Given the description of an element on the screen output the (x, y) to click on. 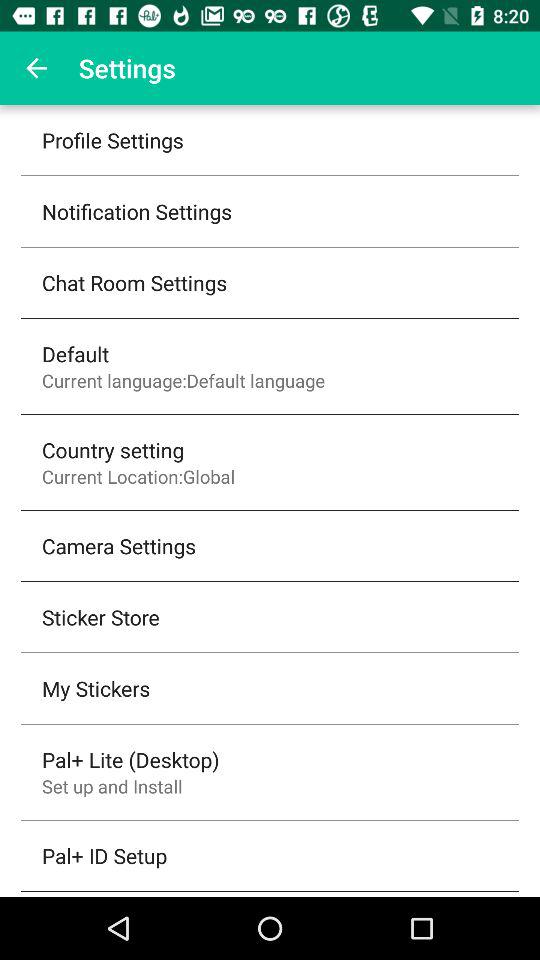
swipe to the pal+ lite (desktop) item (130, 759)
